Given the description of an element on the screen output the (x, y) to click on. 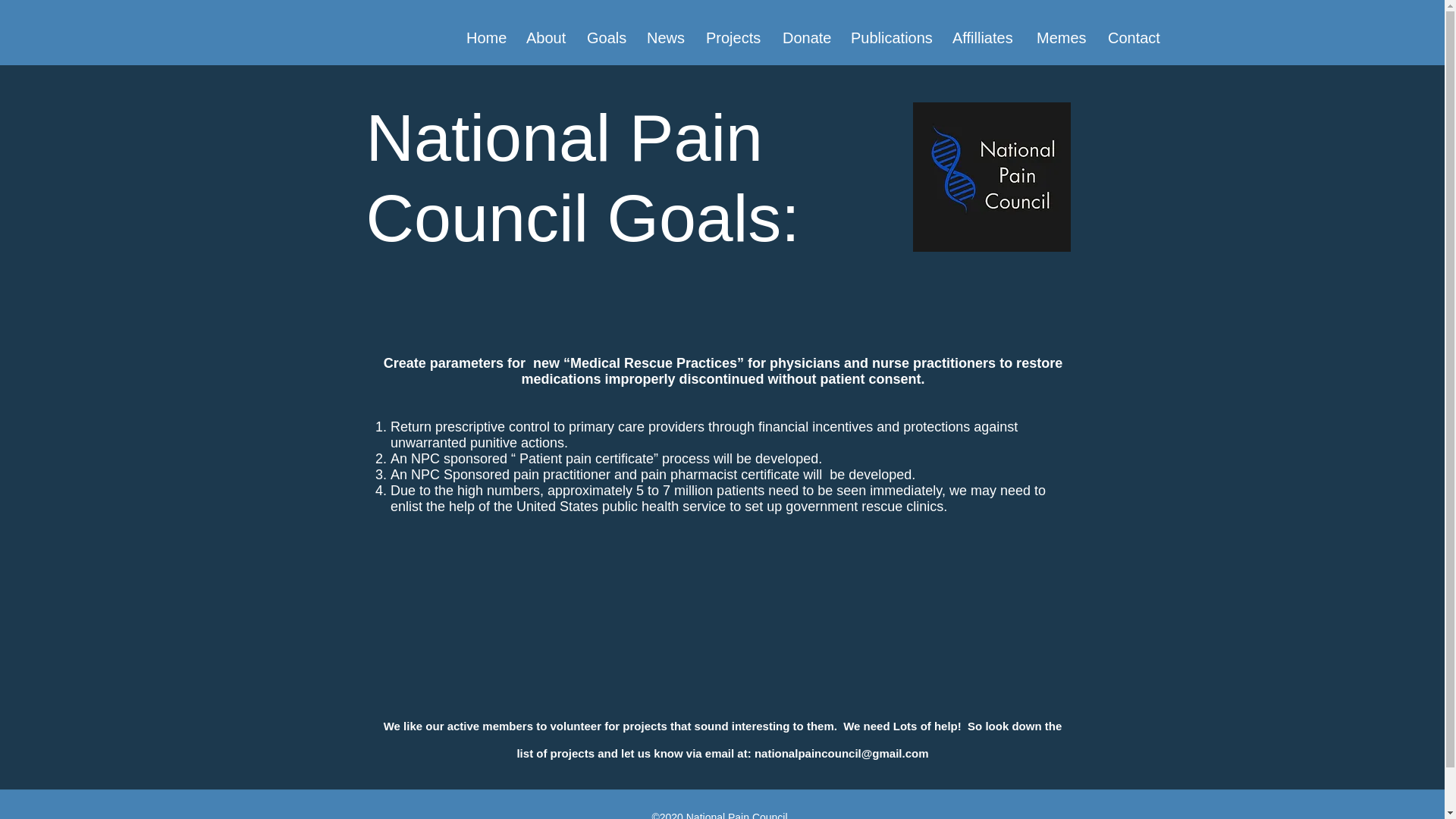
Publications (890, 37)
Home (484, 37)
News (664, 37)
Donate (805, 37)
About (545, 37)
Affilliates (982, 37)
Memes (1060, 37)
Contact (1131, 37)
Goals (604, 37)
Projects (732, 37)
